Given the description of an element on the screen output the (x, y) to click on. 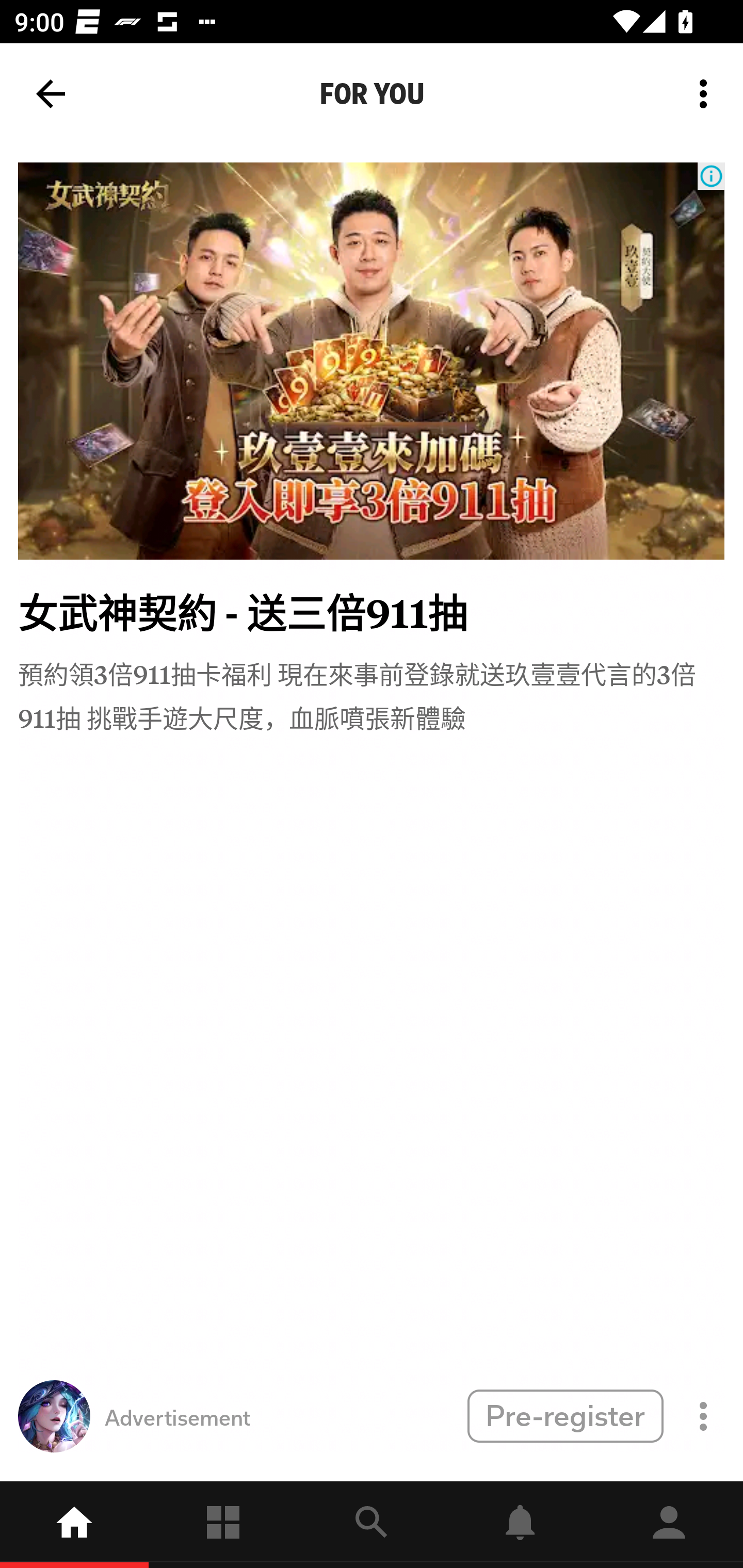
Back (50, 93)
FOR YOU (371, 93)
More options (706, 93)
Ad Choices Icon (711, 176)
預約領3倍911抽卡福利 現在來事前登錄就送玖壹壹代言的3倍911抽 挑戰手遊大尺度，血脈噴張新體驗 (371, 694)
Pre-register (565, 1415)
home (74, 1524)
Following (222, 1524)
explore (371, 1524)
Notifications (519, 1524)
Profile (668, 1524)
